Given the description of an element on the screen output the (x, y) to click on. 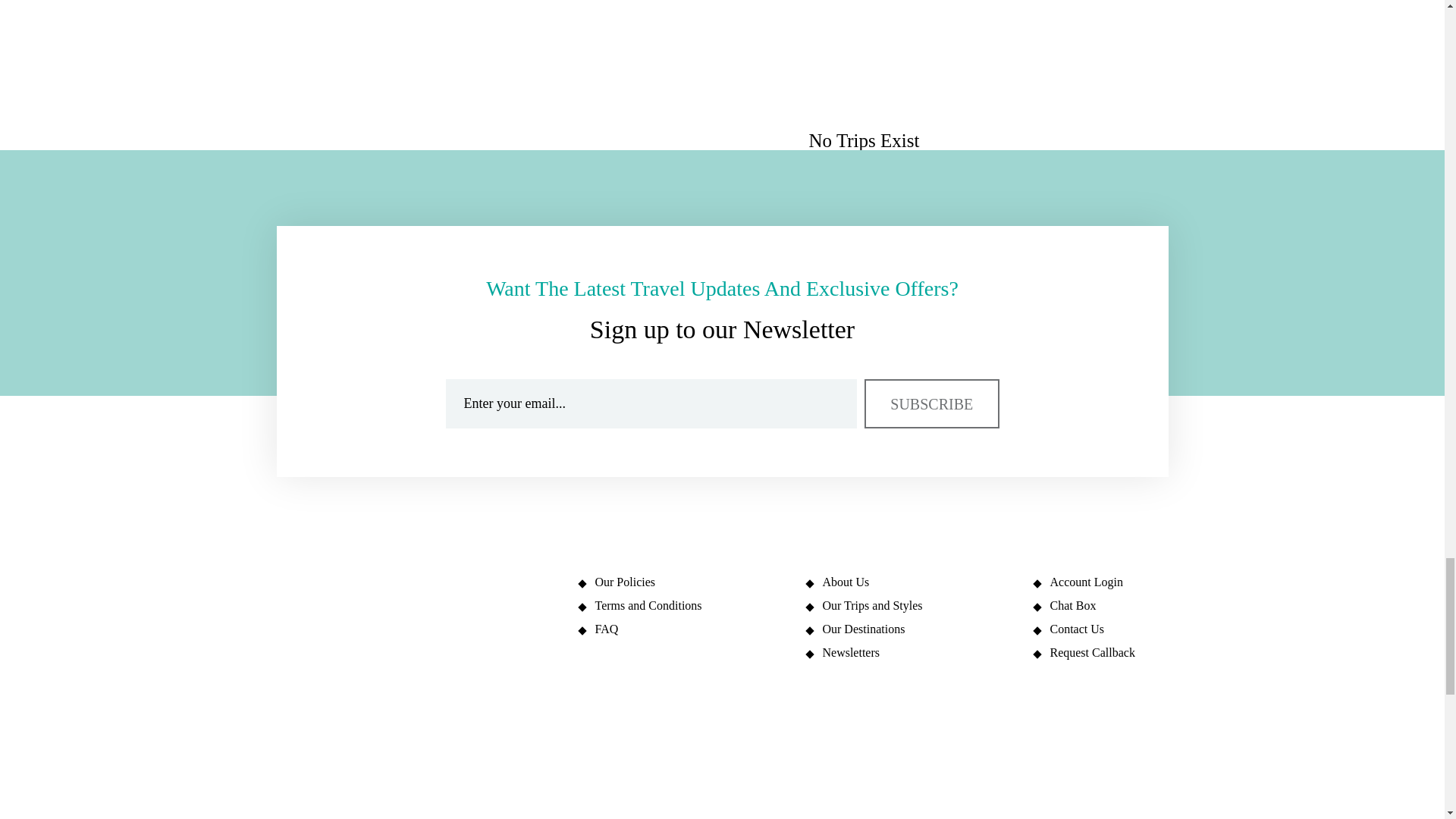
Account Login (1100, 582)
Our Policies (684, 582)
Our Trips and Styles (911, 605)
Subscribe (931, 403)
Terms and Conditions (684, 605)
About Us (911, 582)
Subscribe (931, 403)
Clickandtrip (344, 756)
Contact Us (1100, 629)
Chat Box (1100, 605)
Our Destinations (911, 629)
FAQ (684, 629)
Request Callback (1100, 653)
Newsletters (911, 653)
